Given the description of an element on the screen output the (x, y) to click on. 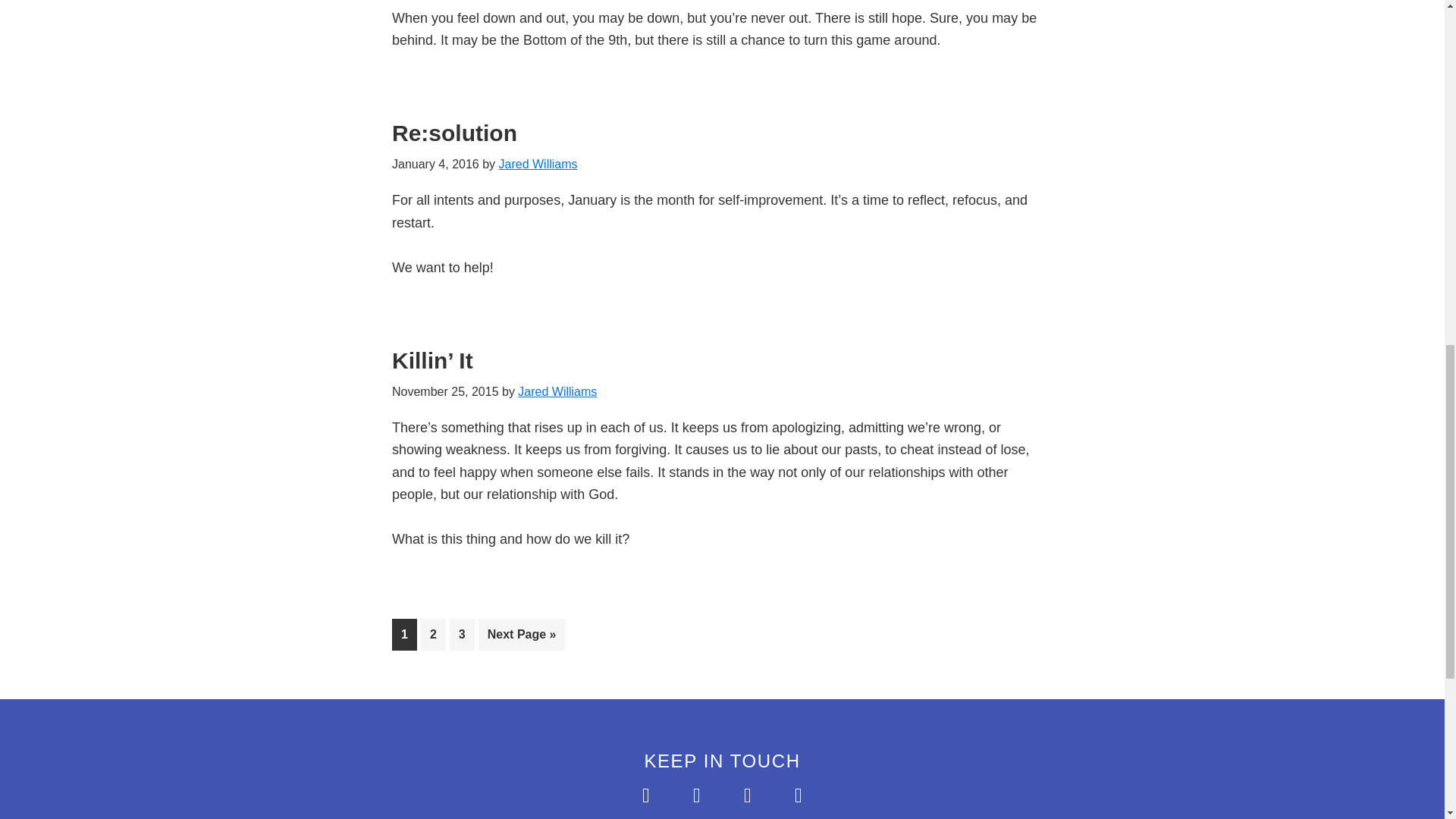
Jared Williams (538, 164)
Jared Williams (557, 391)
Re:solution (453, 132)
